Given the description of an element on the screen output the (x, y) to click on. 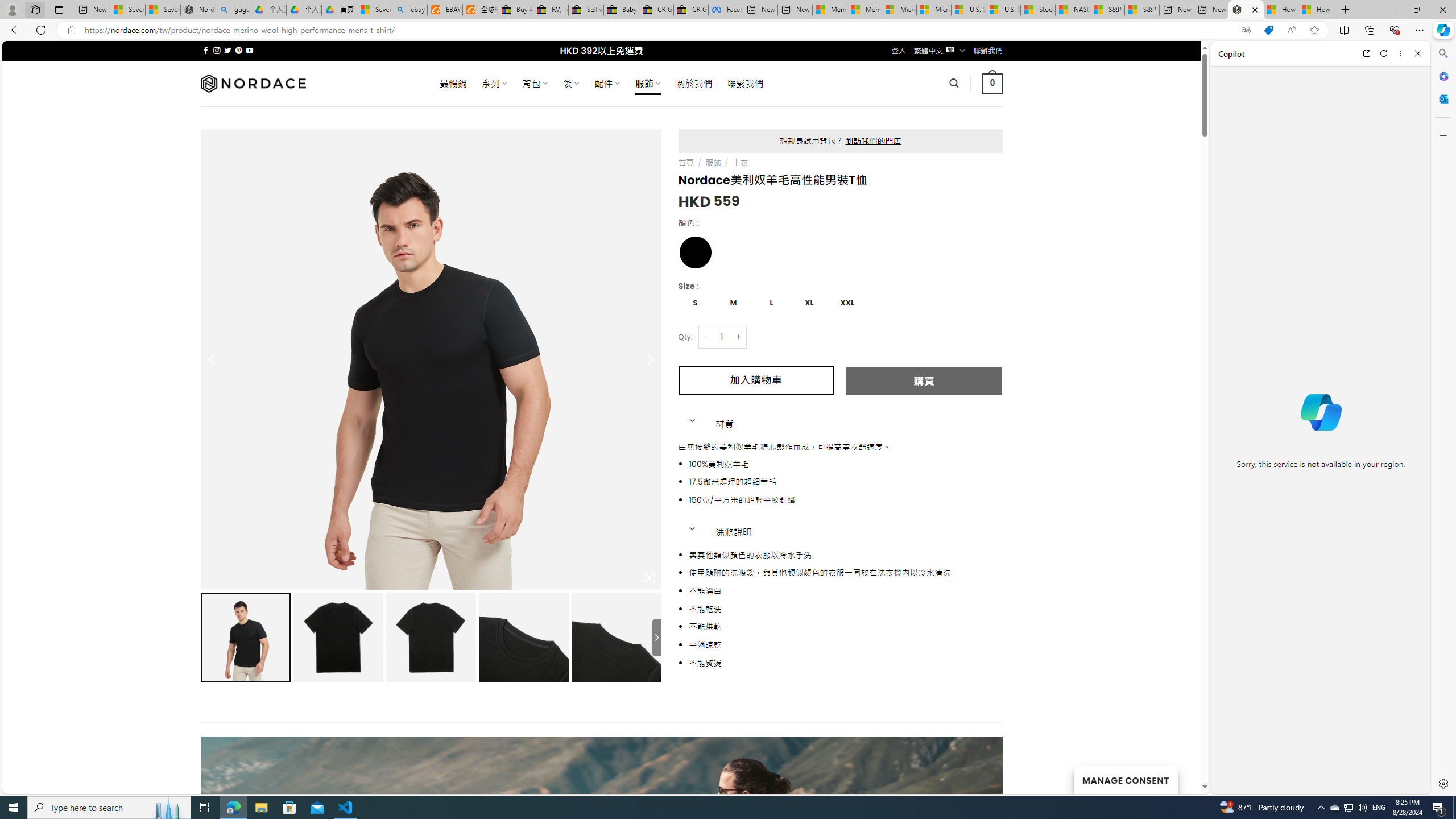
+ (738, 336)
Settings (1442, 783)
This site has coupons! Shopping in Microsoft Edge (1268, 29)
 0  (992, 83)
